Given the description of an element on the screen output the (x, y) to click on. 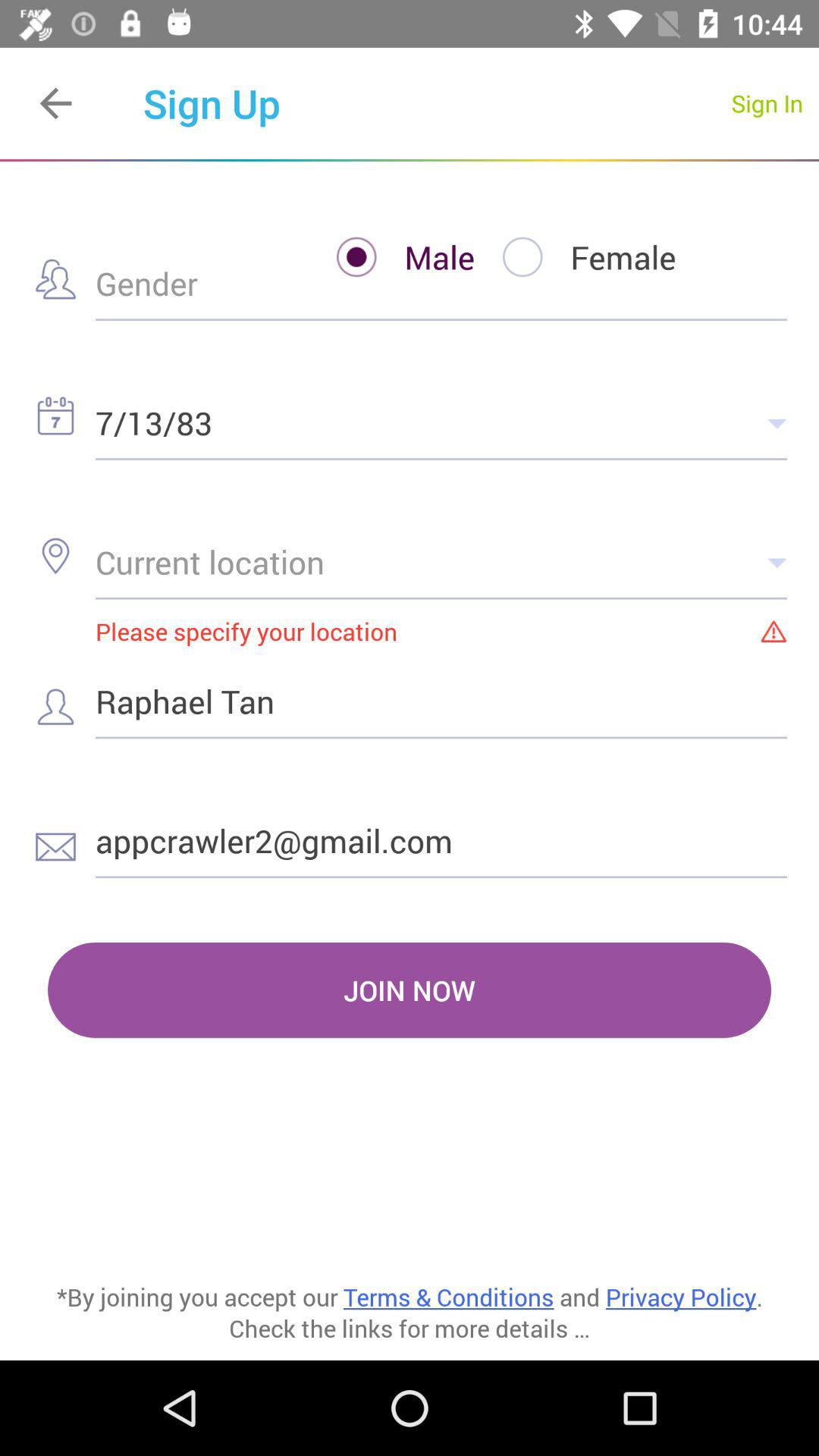
jump until the male icon (391, 256)
